Given the description of an element on the screen output the (x, y) to click on. 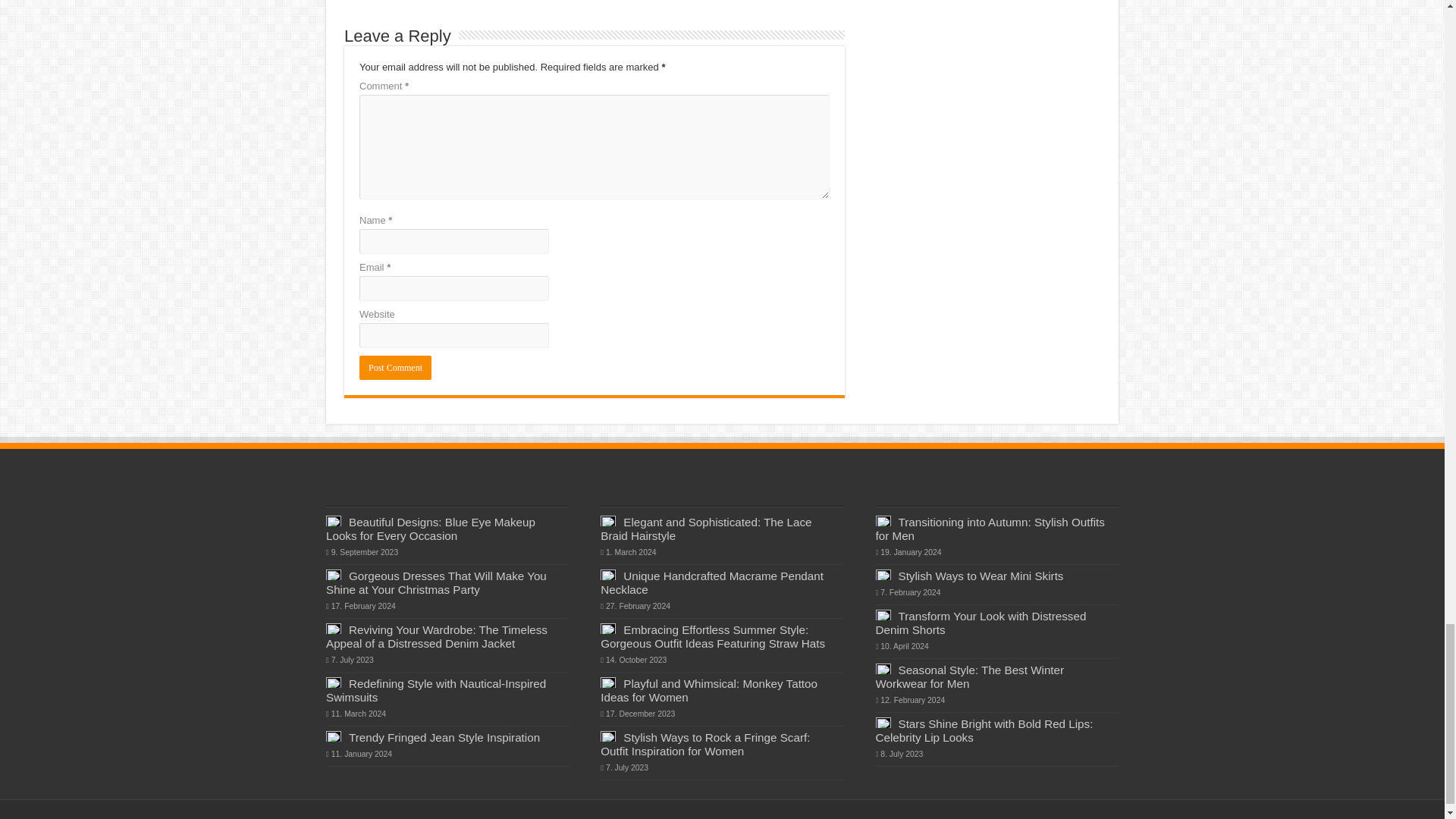
Redefining Style with Nautical-Inspired Swimsuits (436, 690)
Post Comment (394, 367)
Beautiful Designs: Blue Eye Makeup Looks for Every Occasion (430, 528)
Elegant and Sophisticated: The Lace Braid Hairstyle (704, 528)
Post Comment (394, 367)
Trendy Fringed Jean Style Inspiration (444, 737)
